Given the description of an element on the screen output the (x, y) to click on. 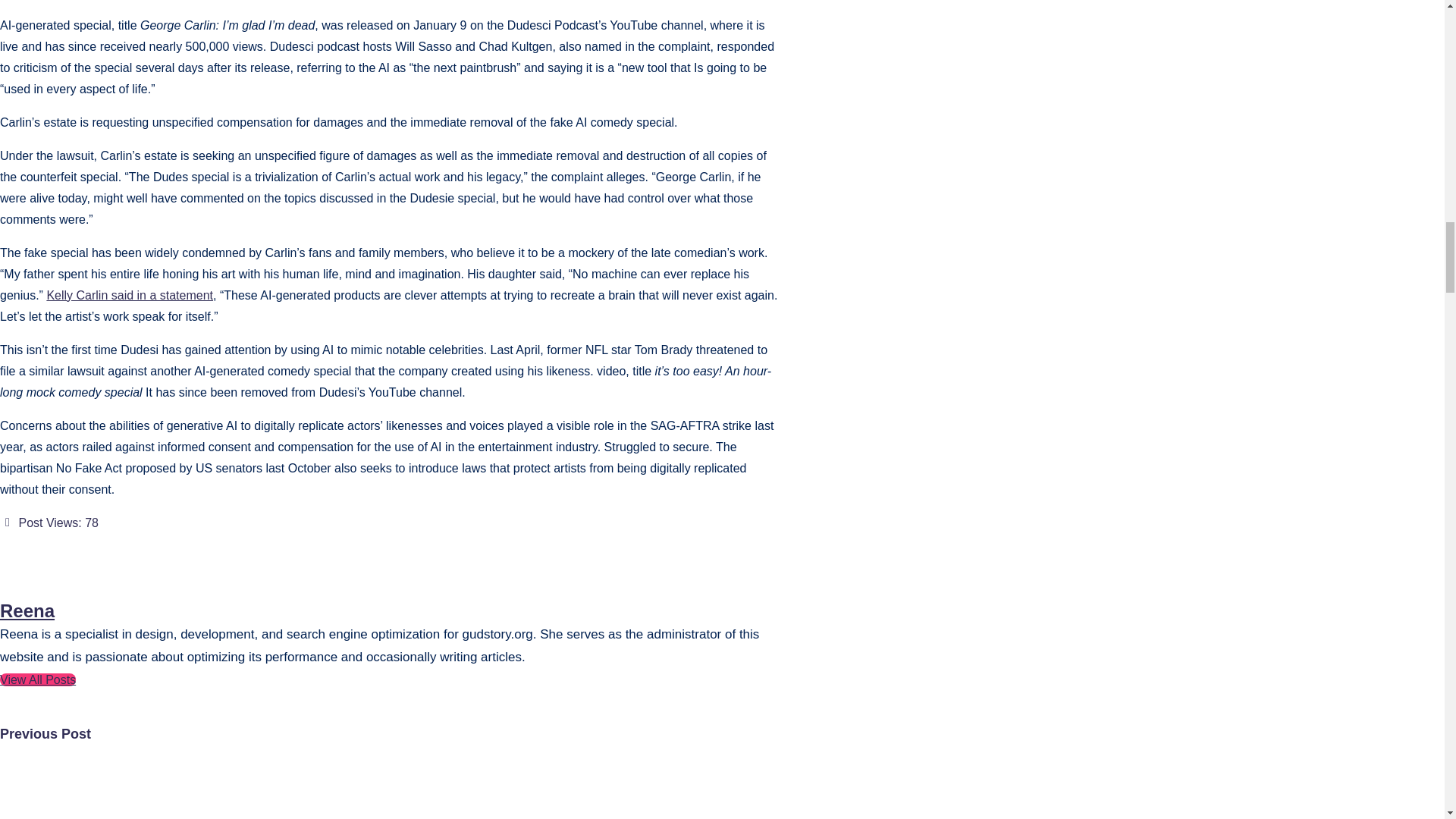
Reena (27, 610)
View All Posts (37, 679)
Kelly Carlin said in a statement (129, 295)
